Given the description of an element on the screen output the (x, y) to click on. 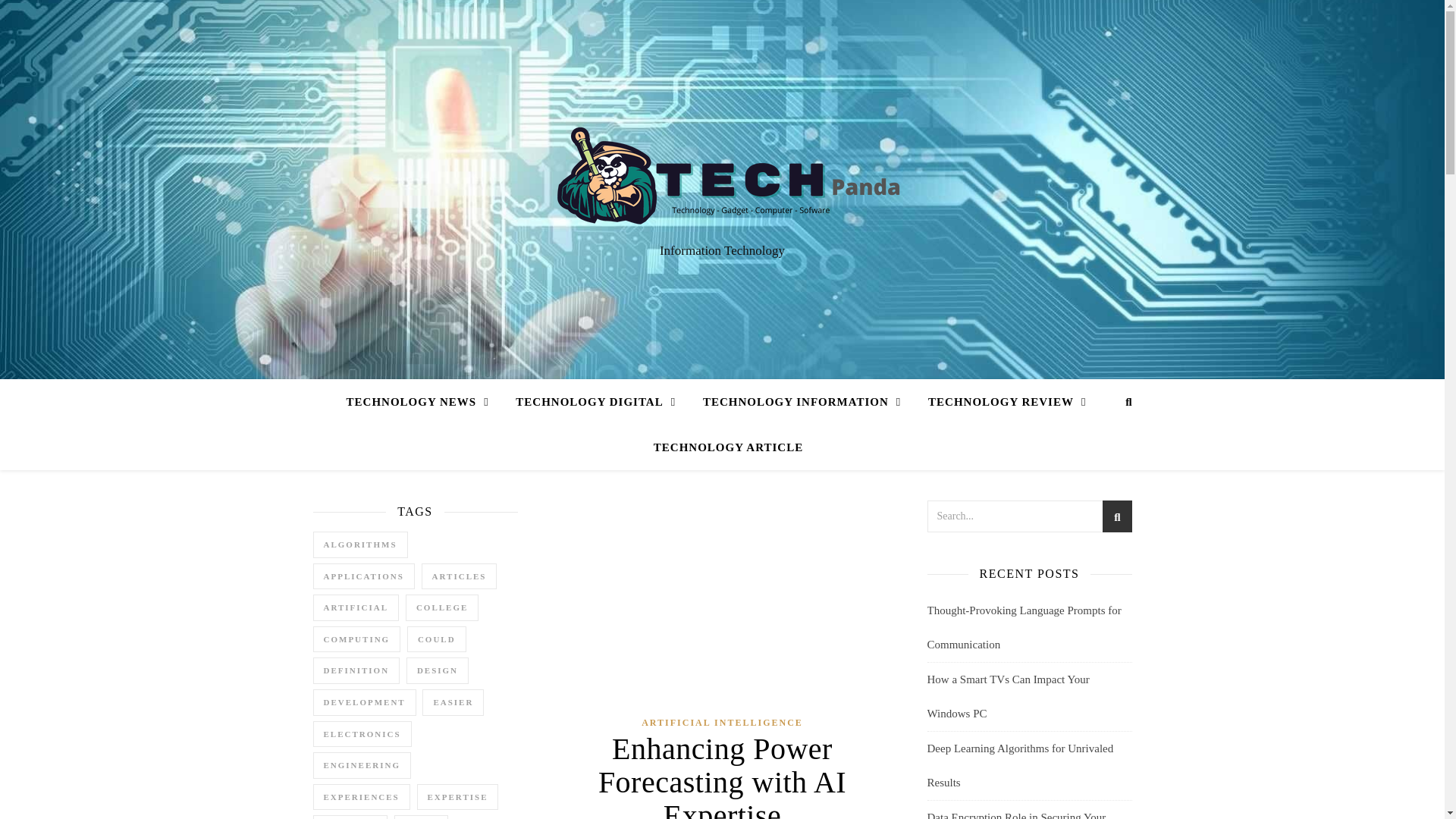
TECHNOLOGY REVIEW (1006, 402)
Tech Panda (721, 175)
TECHNOLOGY ARTICLE (722, 447)
TECHNOLOGY NEWS (423, 402)
TECHNOLOGY DIGITAL (595, 402)
ALGORITHMS (360, 544)
ARTICLES (459, 576)
TECHNOLOGY INFORMATION (801, 402)
ARTIFICIAL (355, 607)
APPLICATIONS (363, 576)
